Given the description of an element on the screen output the (x, y) to click on. 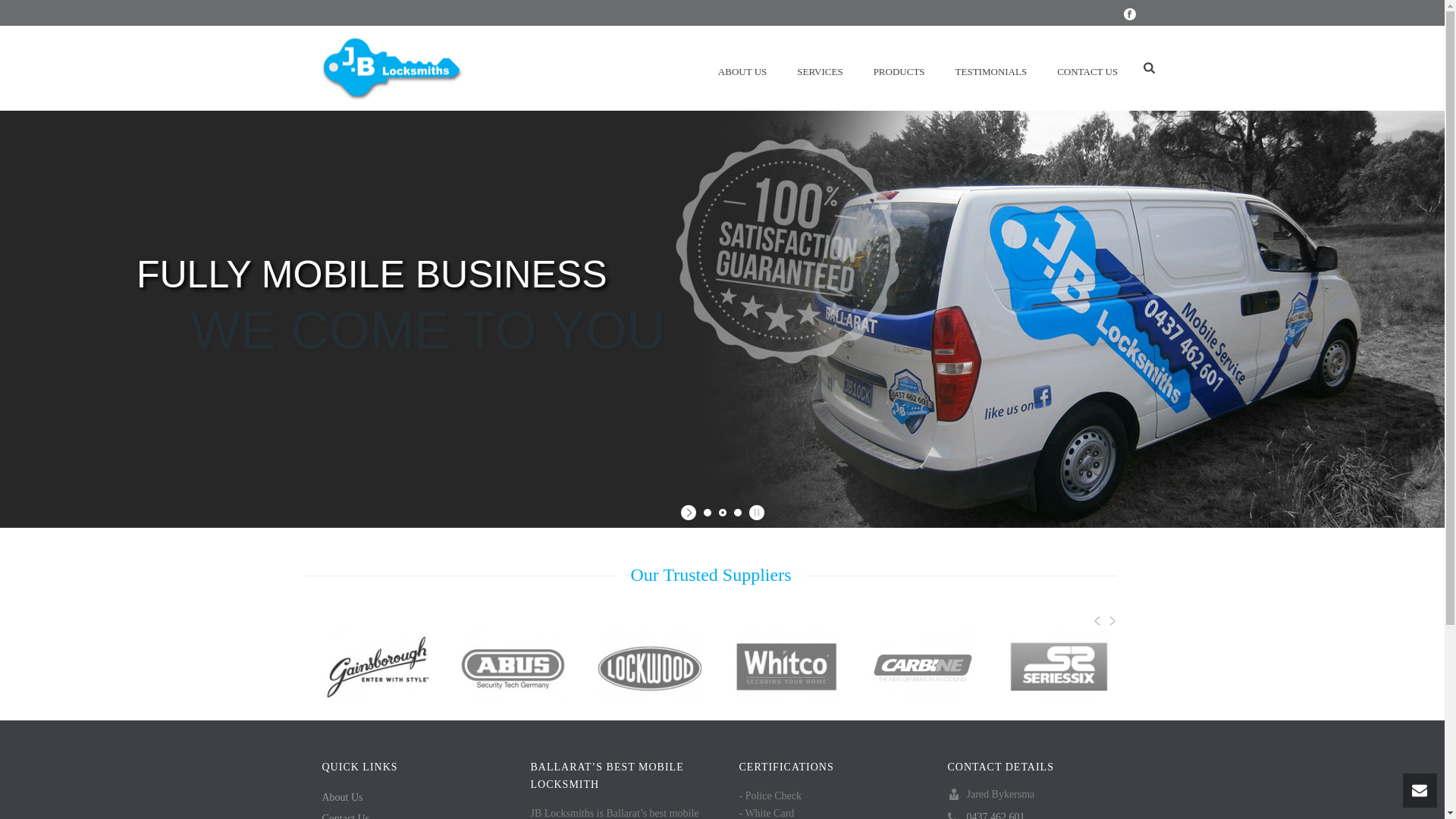
TESTIMONIALS Element type: text (991, 67)
ABUS Element type: hover (512, 667)
CONTACT US Element type: text (1086, 67)
Lockwood Element type: hover (649, 667)
Carbine Element type: hover (922, 667)
S2 Element type: hover (1058, 667)
Whitco Element type: hover (785, 667)
Gainsborough Element type: hover (376, 667)
Key Cutting | Restricted Key Systems | Safes Element type: hover (391, 67)
PRODUCTS Element type: text (899, 67)
SERVICES Element type: text (819, 67)
ABOUT US Element type: text (741, 67)
About Us Element type: text (341, 797)
